Given the description of an element on the screen output the (x, y) to click on. 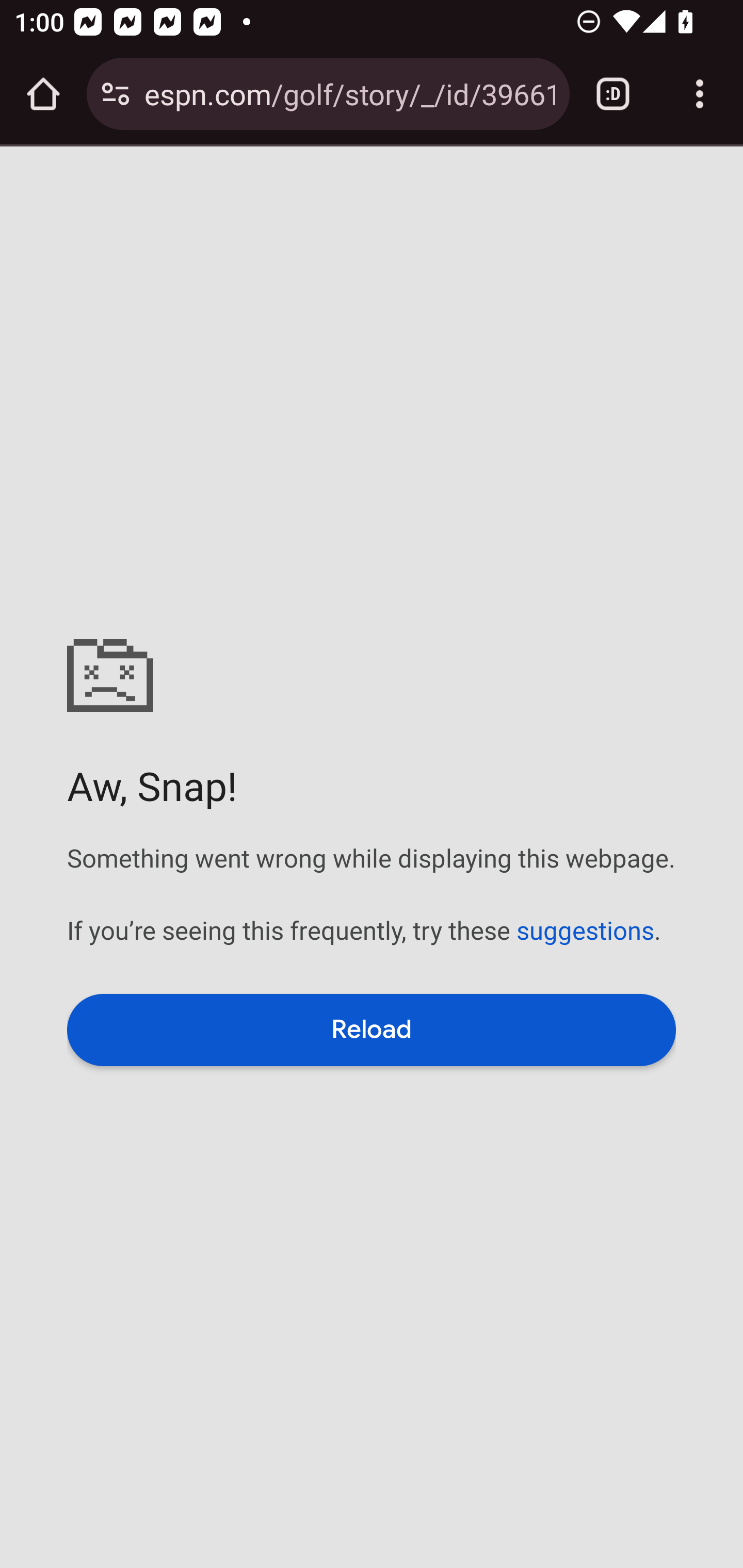
Open the home page (43, 93)
Connection is secure (115, 93)
Switch or close tabs (612, 93)
Customize and control Google Chrome (699, 93)
Reload (371, 1030)
